Given the description of an element on the screen output the (x, y) to click on. 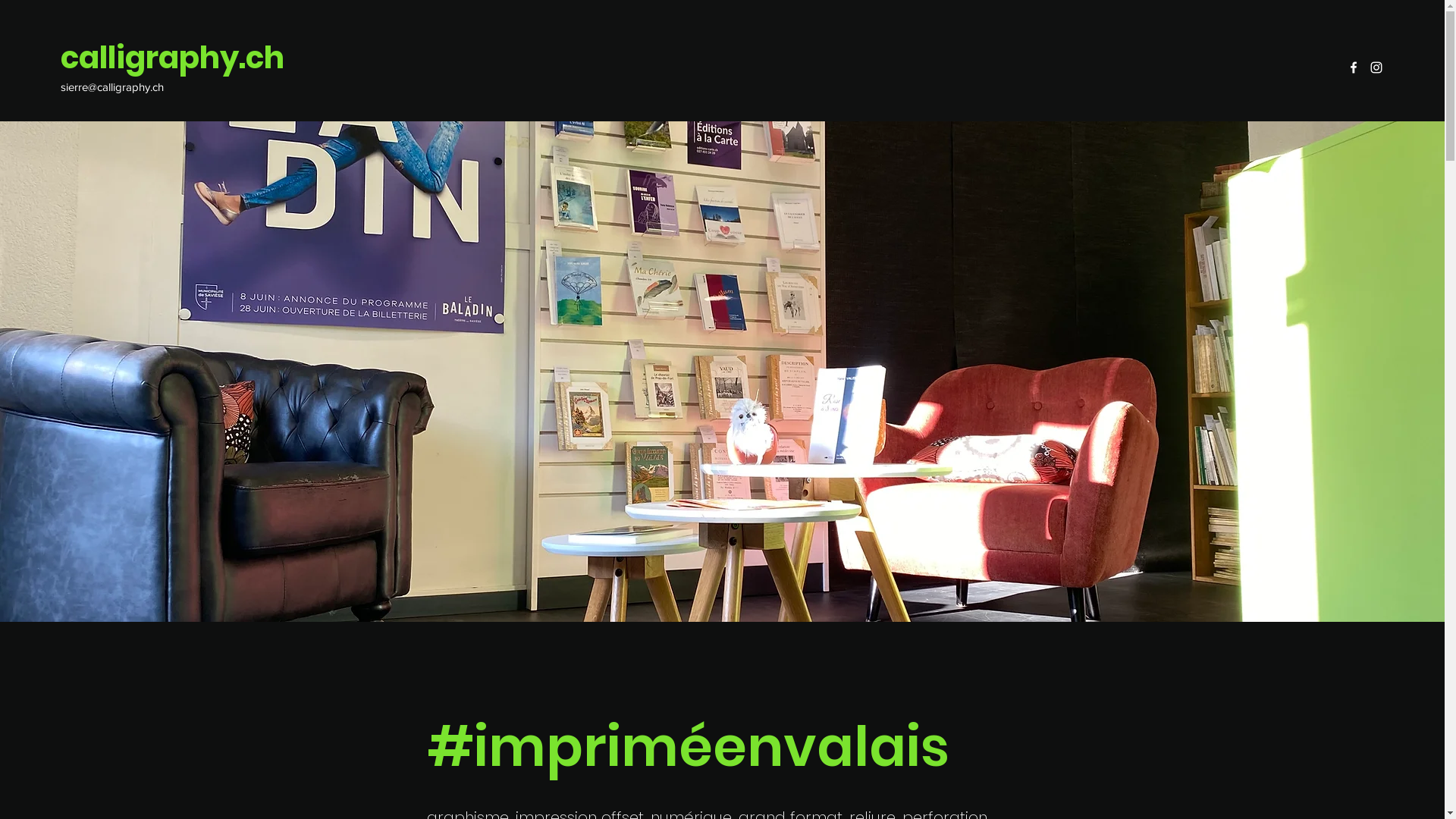
sierre@calligraphy.ch Element type: text (111, 86)
calligraphy.ch Element type: text (172, 57)
